Given the description of an element on the screen output the (x, y) to click on. 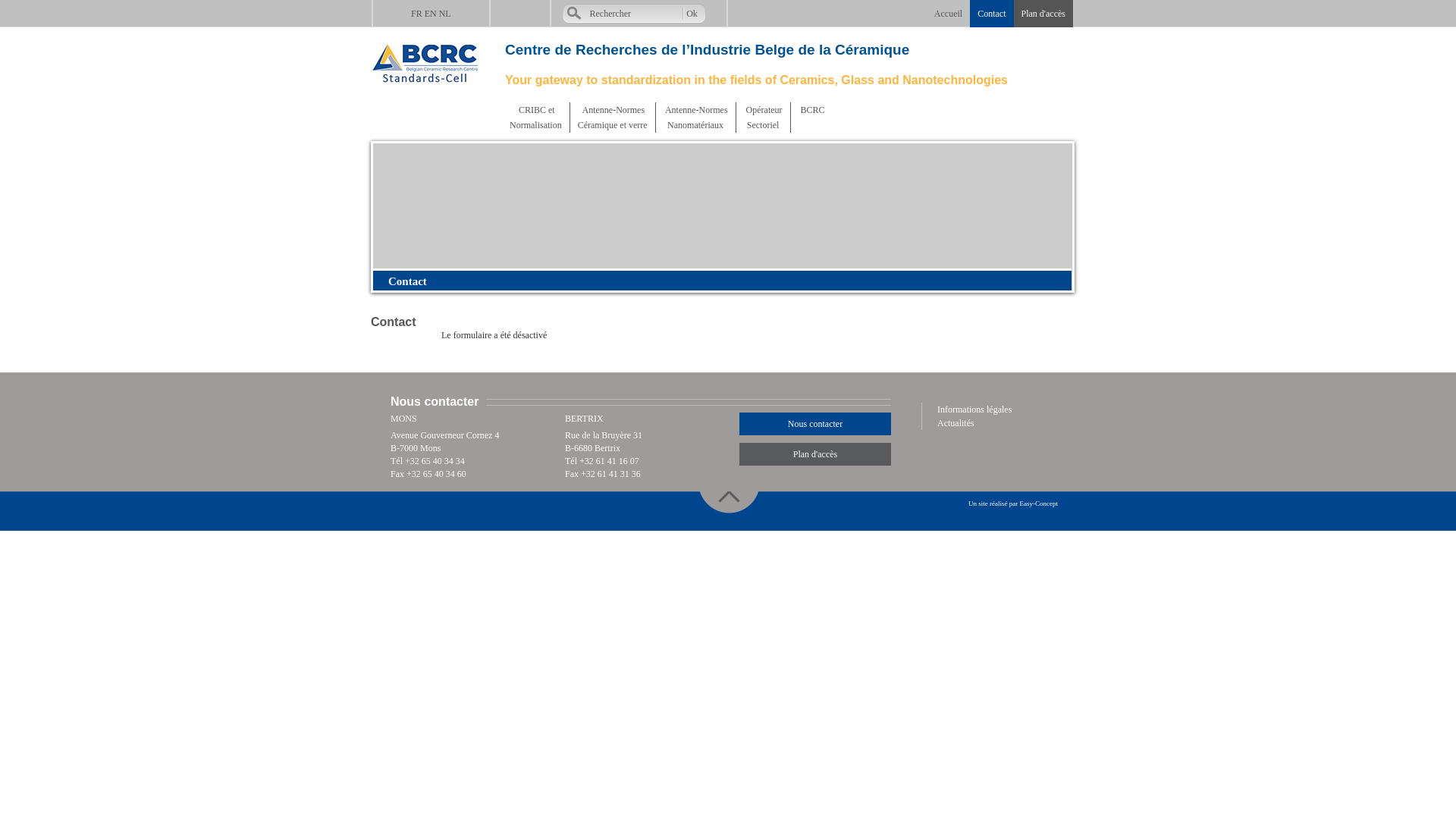
 BCRC Element type: text (811, 109)
NL Element type: text (445, 13)
FR Element type: text (416, 13)
Nous contacter Element type: text (815, 423)
Contact Element type: text (991, 13)
 CRIBC et
Normalisation Element type: text (535, 117)
Accueil Element type: text (947, 13)
EN Element type: text (430, 13)
Ok Element type: text (691, 13)
